Given the description of an element on the screen output the (x, y) to click on. 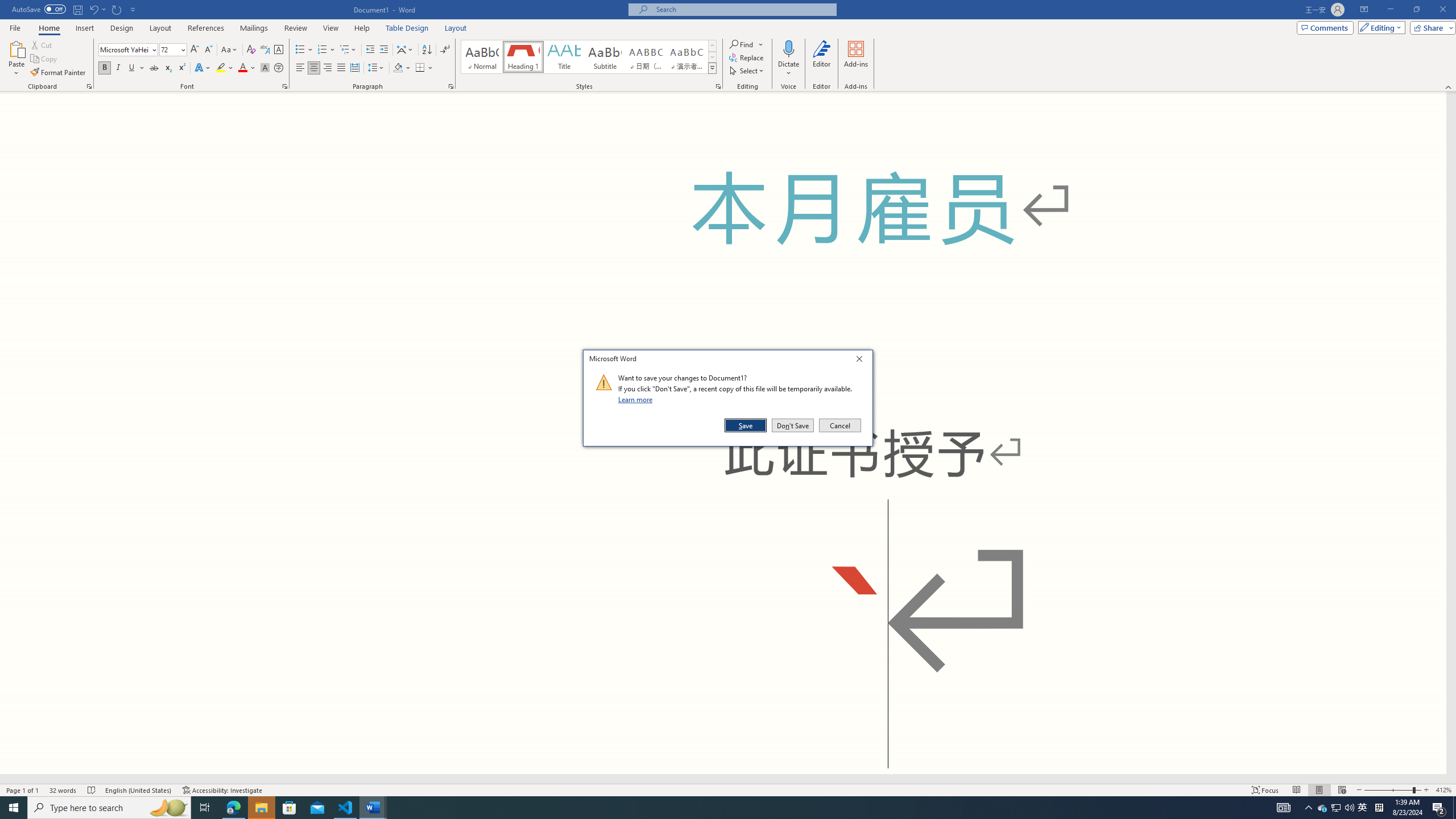
Spelling and Grammar Check No Errors (91, 790)
Don't Save (792, 425)
